Given the description of an element on the screen output the (x, y) to click on. 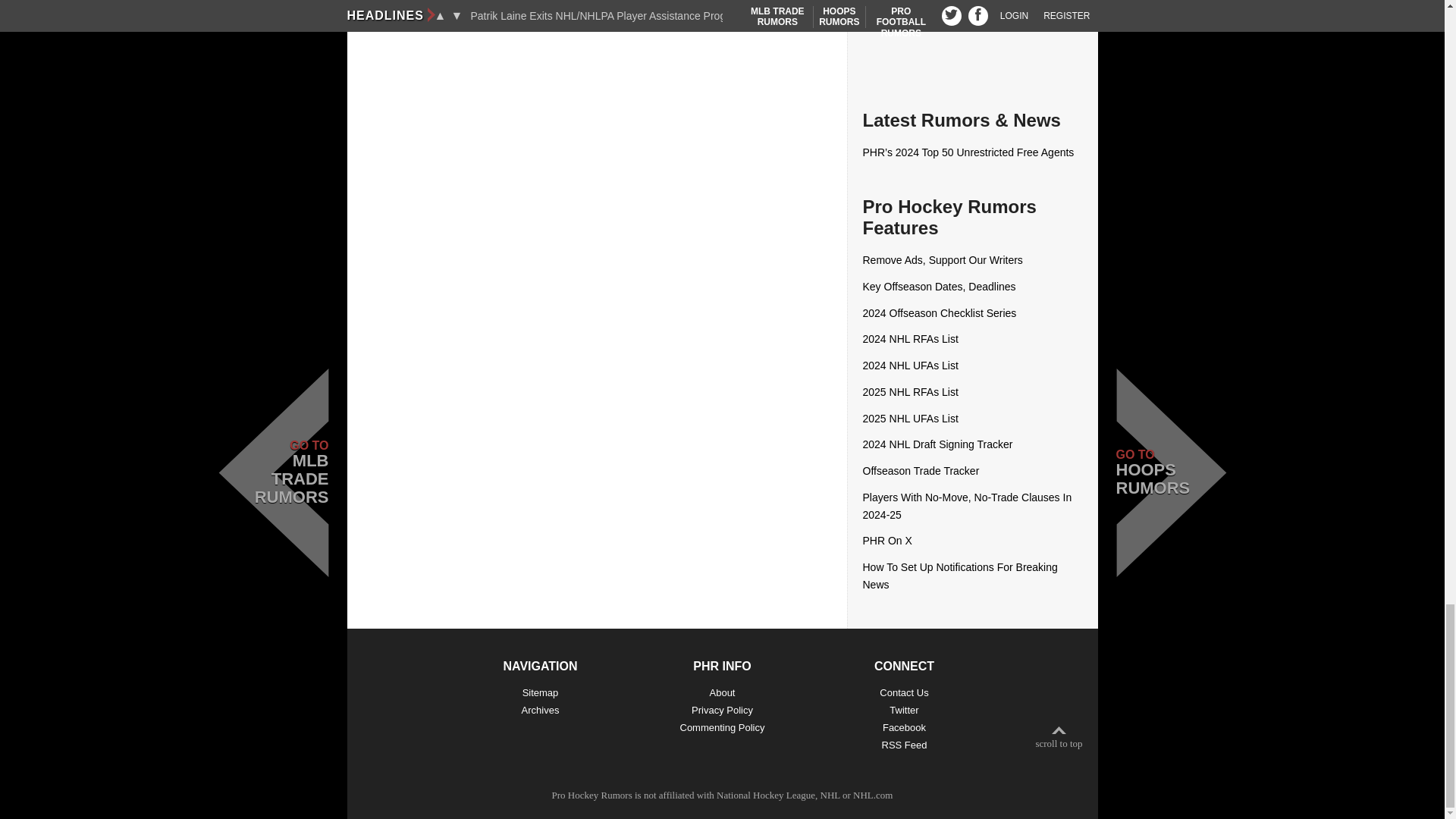
Pro Hockey Rumors (591, 794)
